Given the description of an element on the screen output the (x, y) to click on. 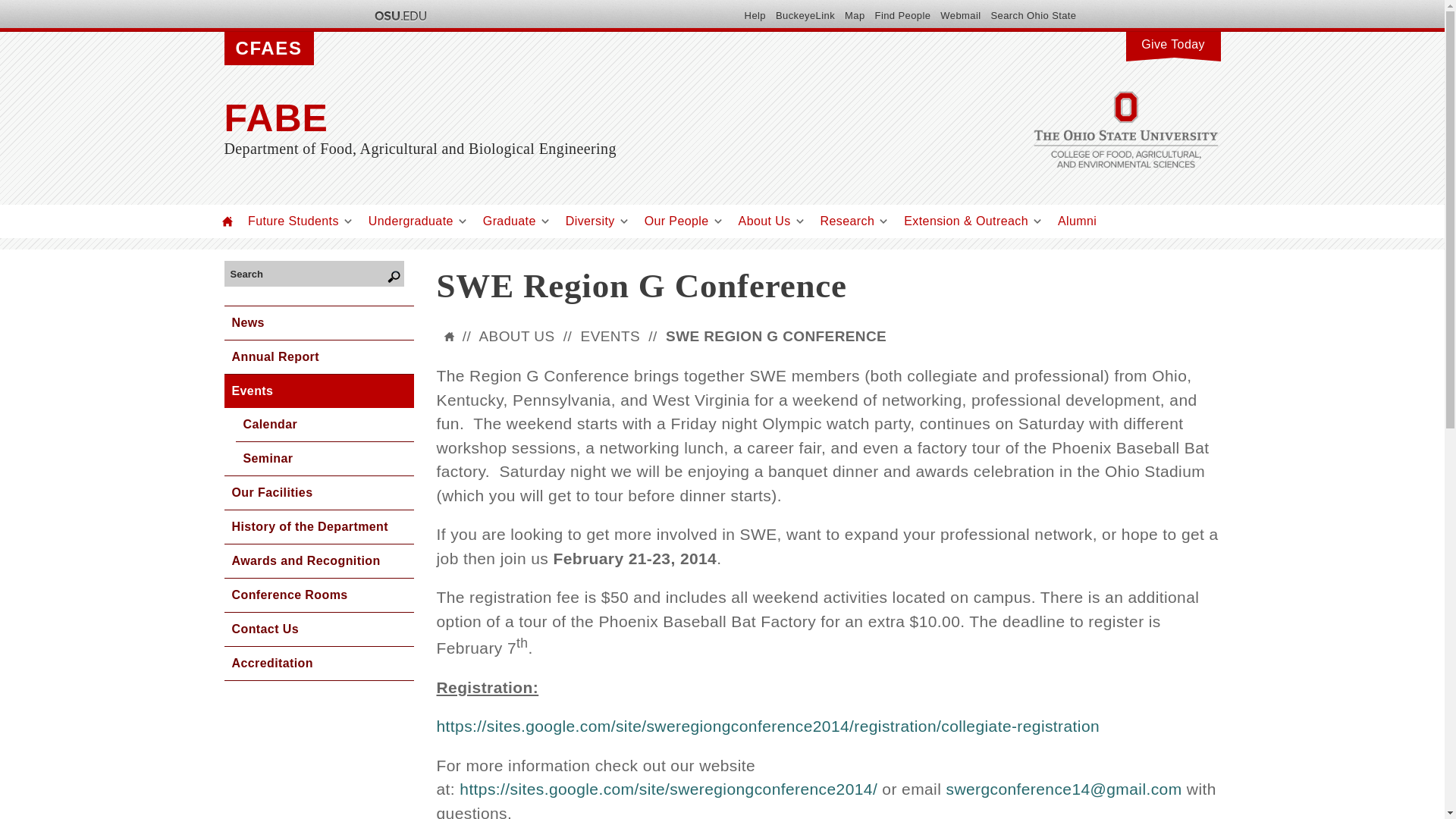
BuckeyeLink (805, 15)
Give Today (1172, 42)
Home (226, 221)
Map (854, 15)
Search (309, 273)
Webmail (959, 15)
Future Students (293, 221)
Skip to main content (686, 1)
Enter the terms you wish to search for. (309, 273)
Home (572, 118)
Search Ohio State (1032, 15)
FABE (572, 118)
CFAES (269, 48)
Help (754, 15)
The Ohio State University (399, 15)
